Given the description of an element on the screen output the (x, y) to click on. 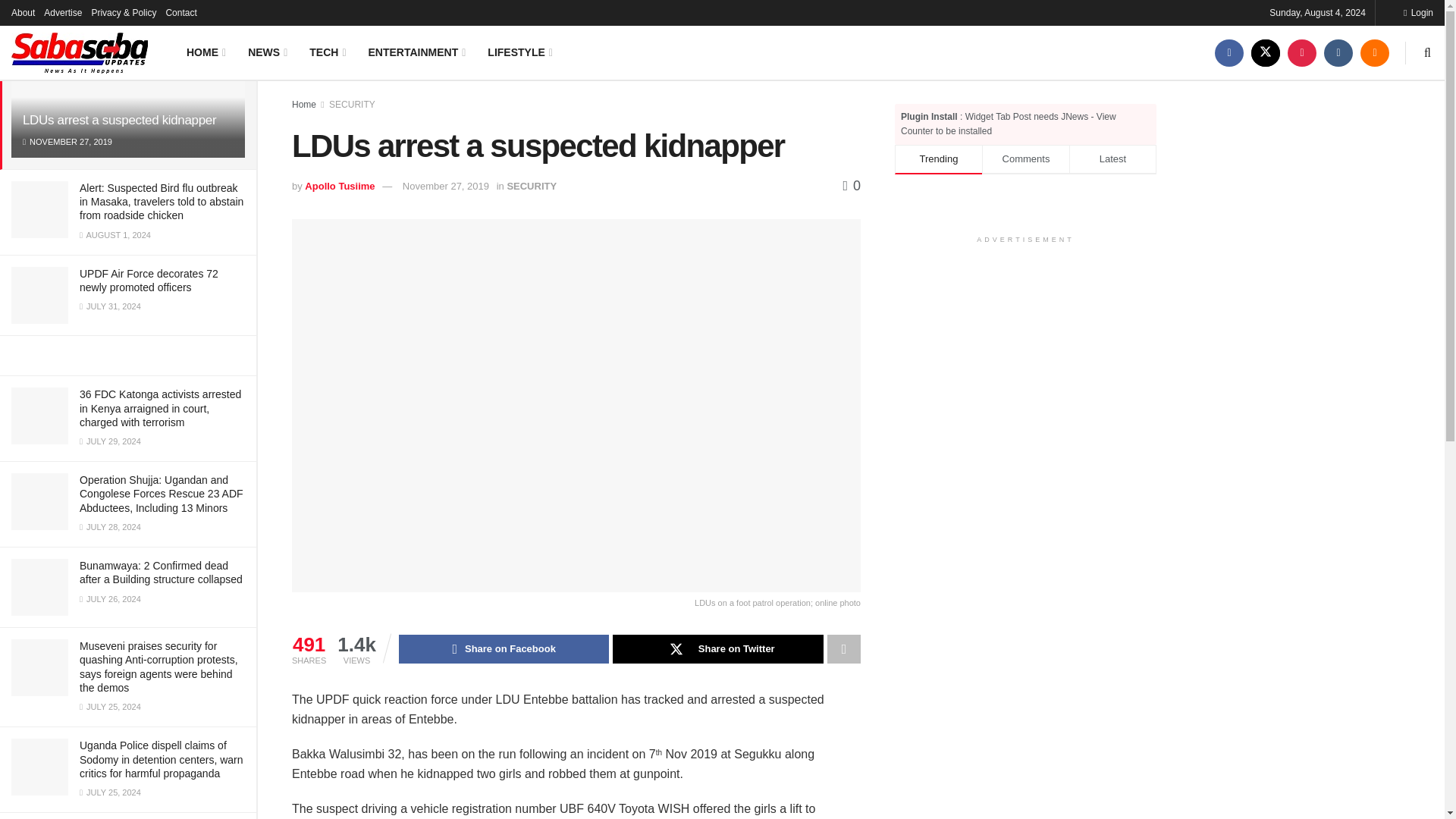
LDUs arrest a suspected kidnapper (119, 120)
Filter (227, 13)
UPDF Air Force decorates 72 newly promoted officers (149, 280)
About (22, 12)
Advertise (62, 12)
